Given the description of an element on the screen output the (x, y) to click on. 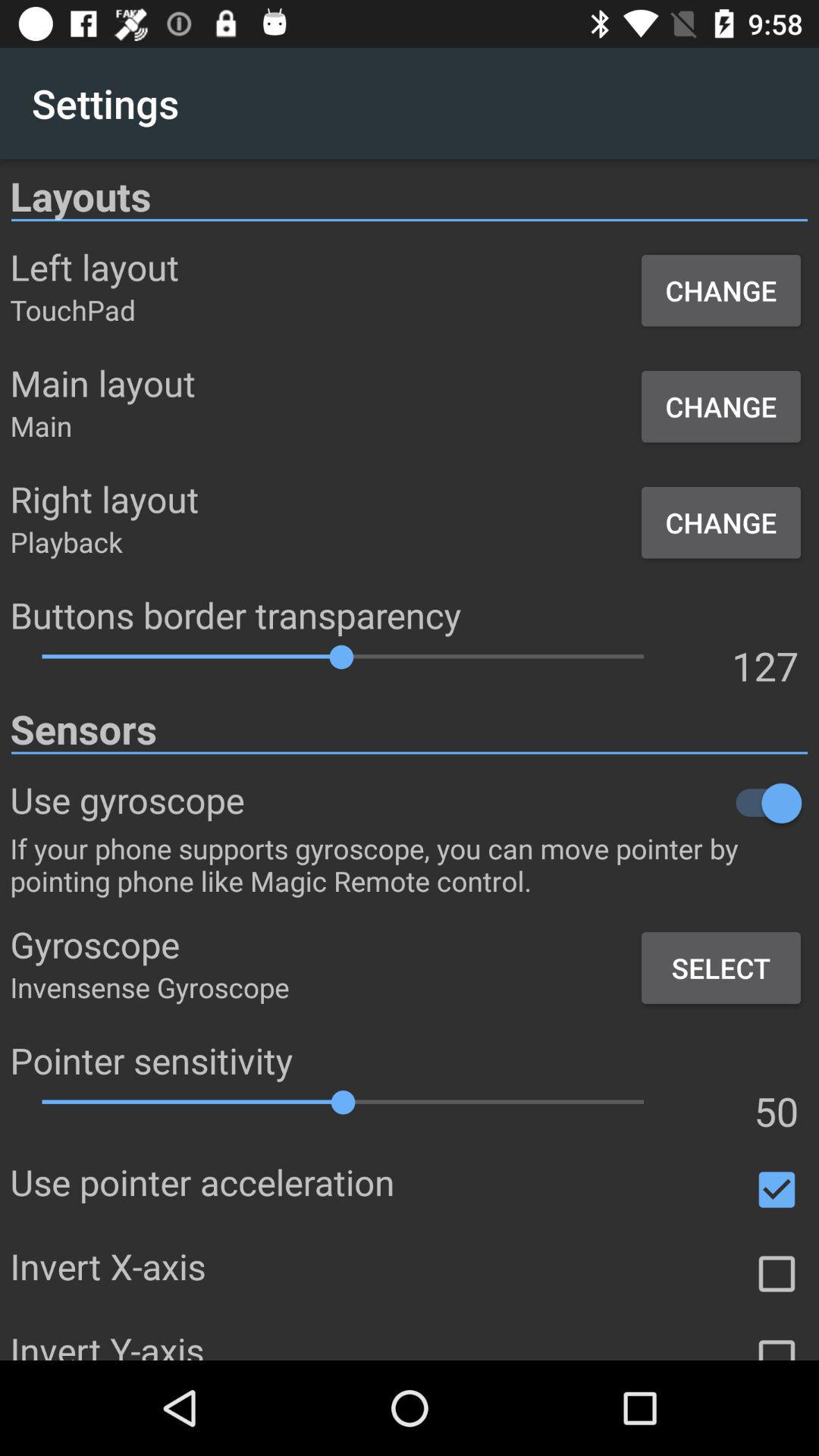
turn of gyroscope (526, 802)
